Given the description of an element on the screen output the (x, y) to click on. 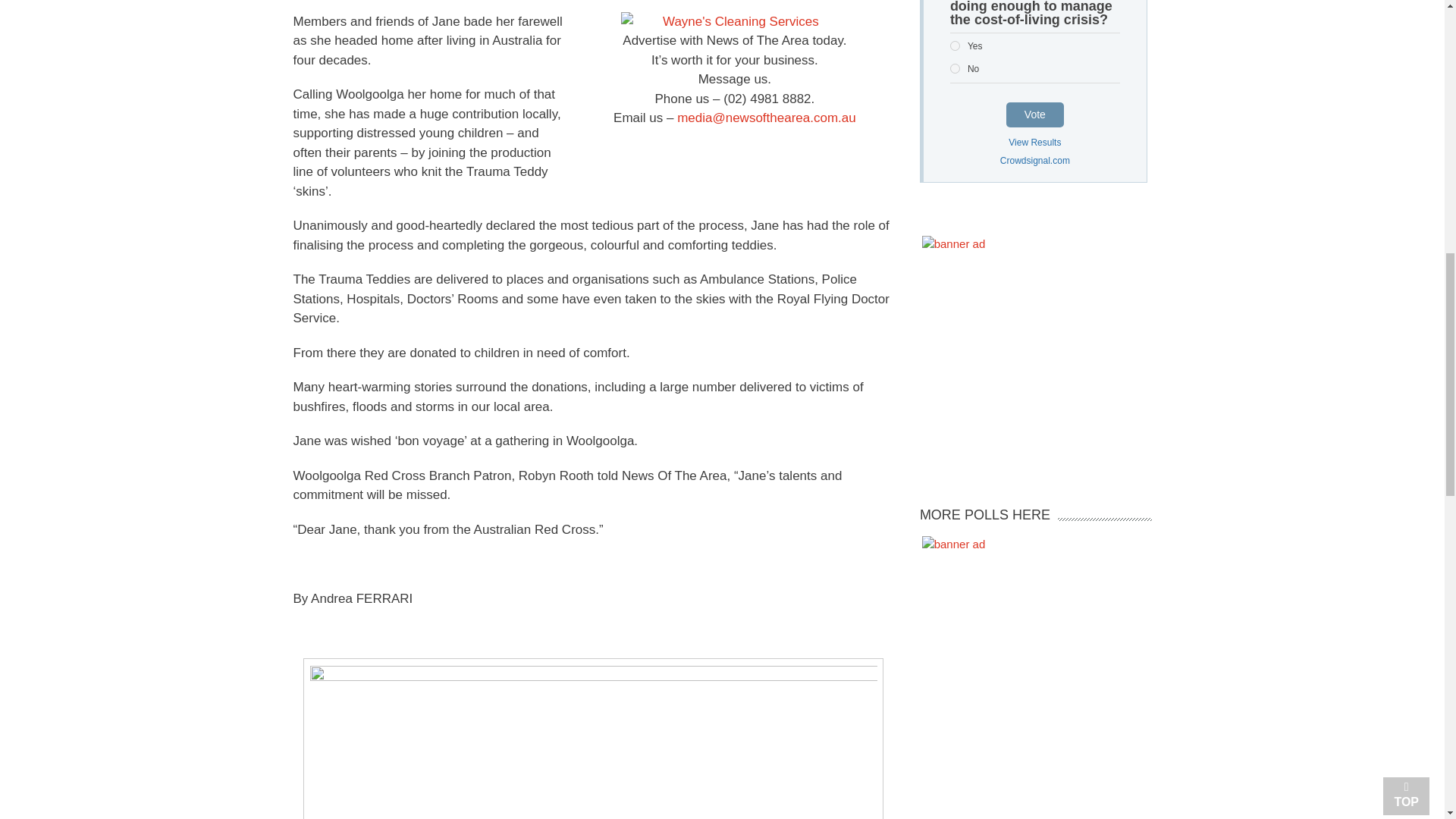
60815114 (954, 68)
60815113 (954, 45)
